Given the description of an element on the screen output the (x, y) to click on. 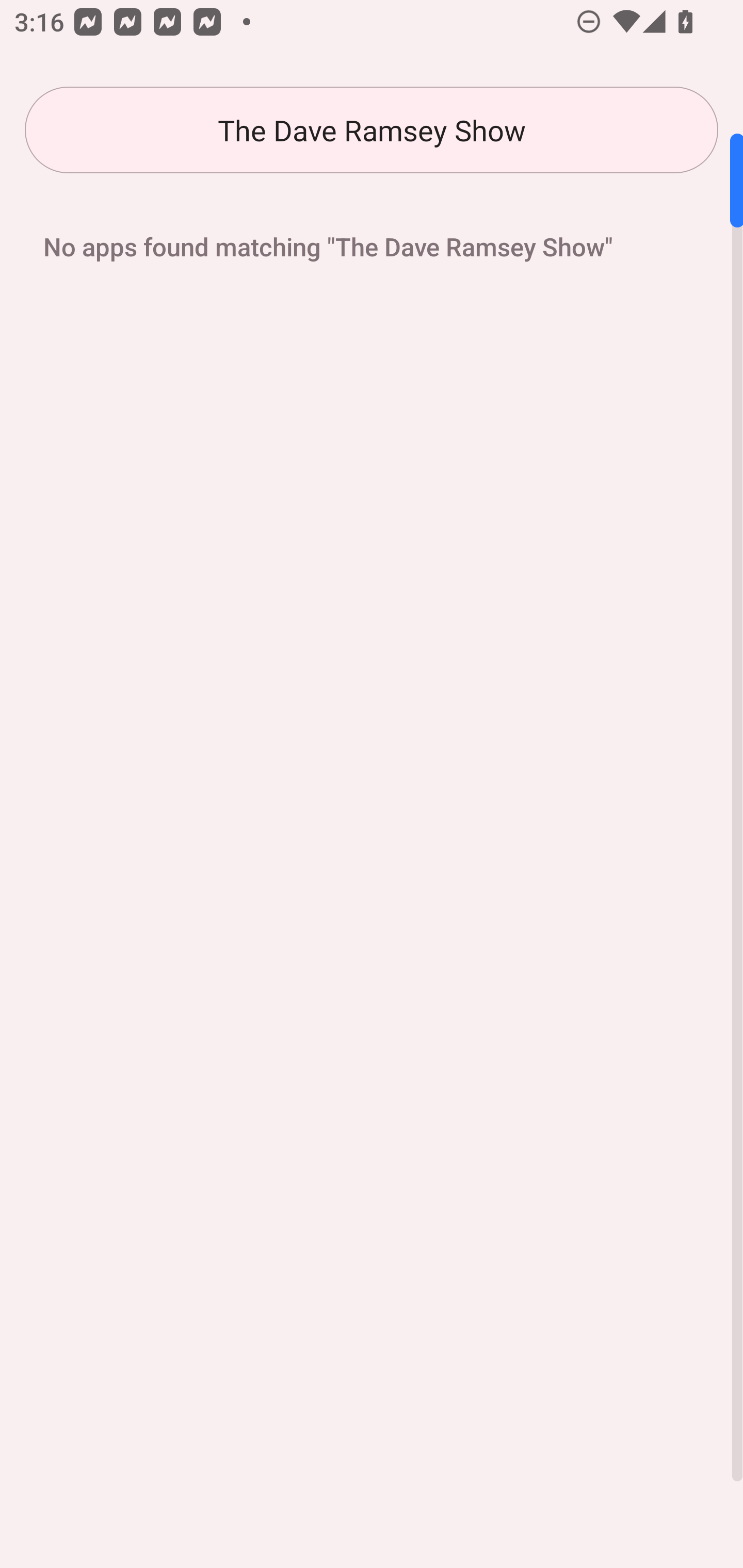
The Dave Ramsey Show (371, 130)
